Given the description of an element on the screen output the (x, y) to click on. 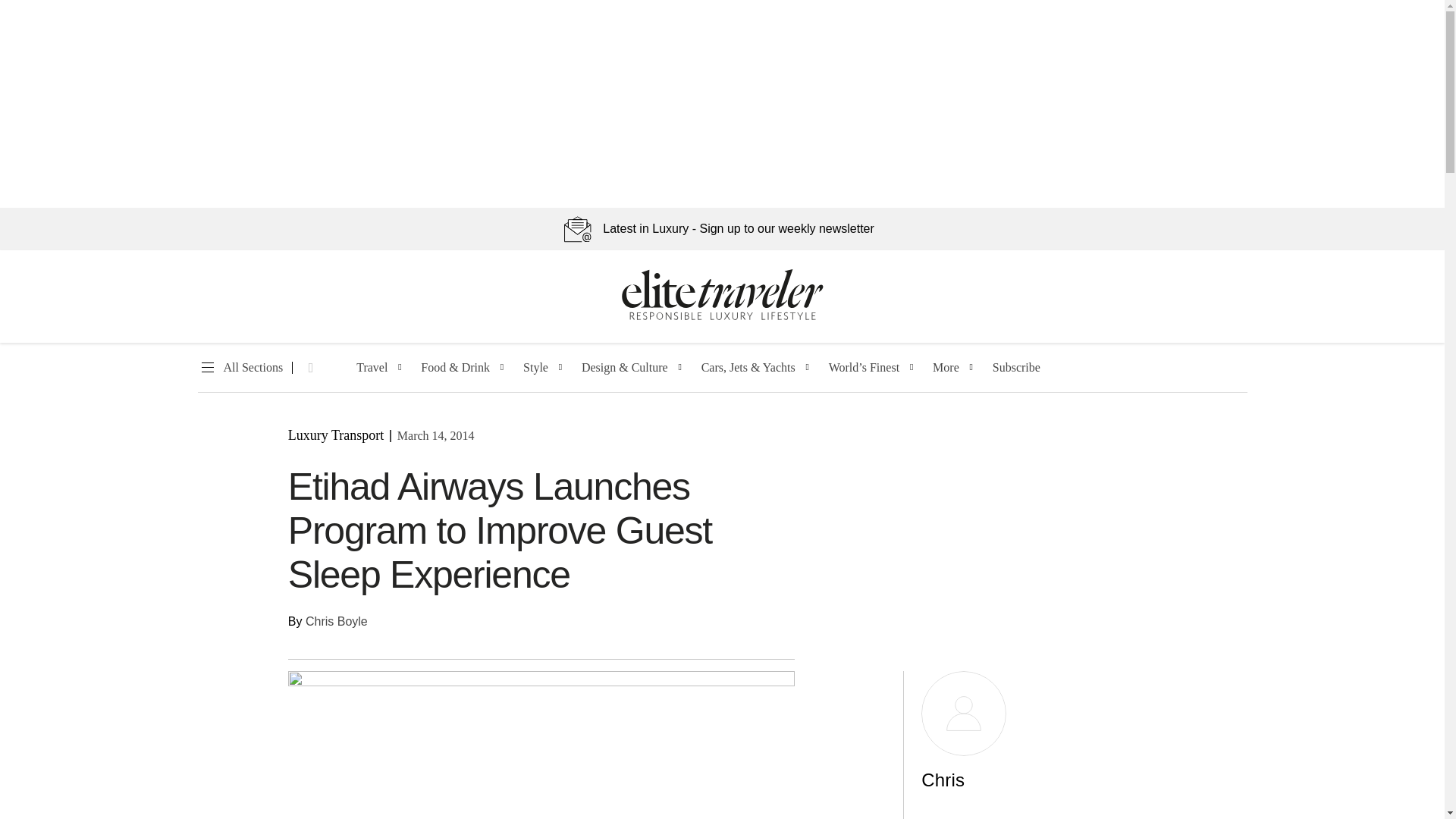
Elite Traveler (722, 317)
All Sections (239, 368)
Travel (371, 368)
